Given the description of an element on the screen output the (x, y) to click on. 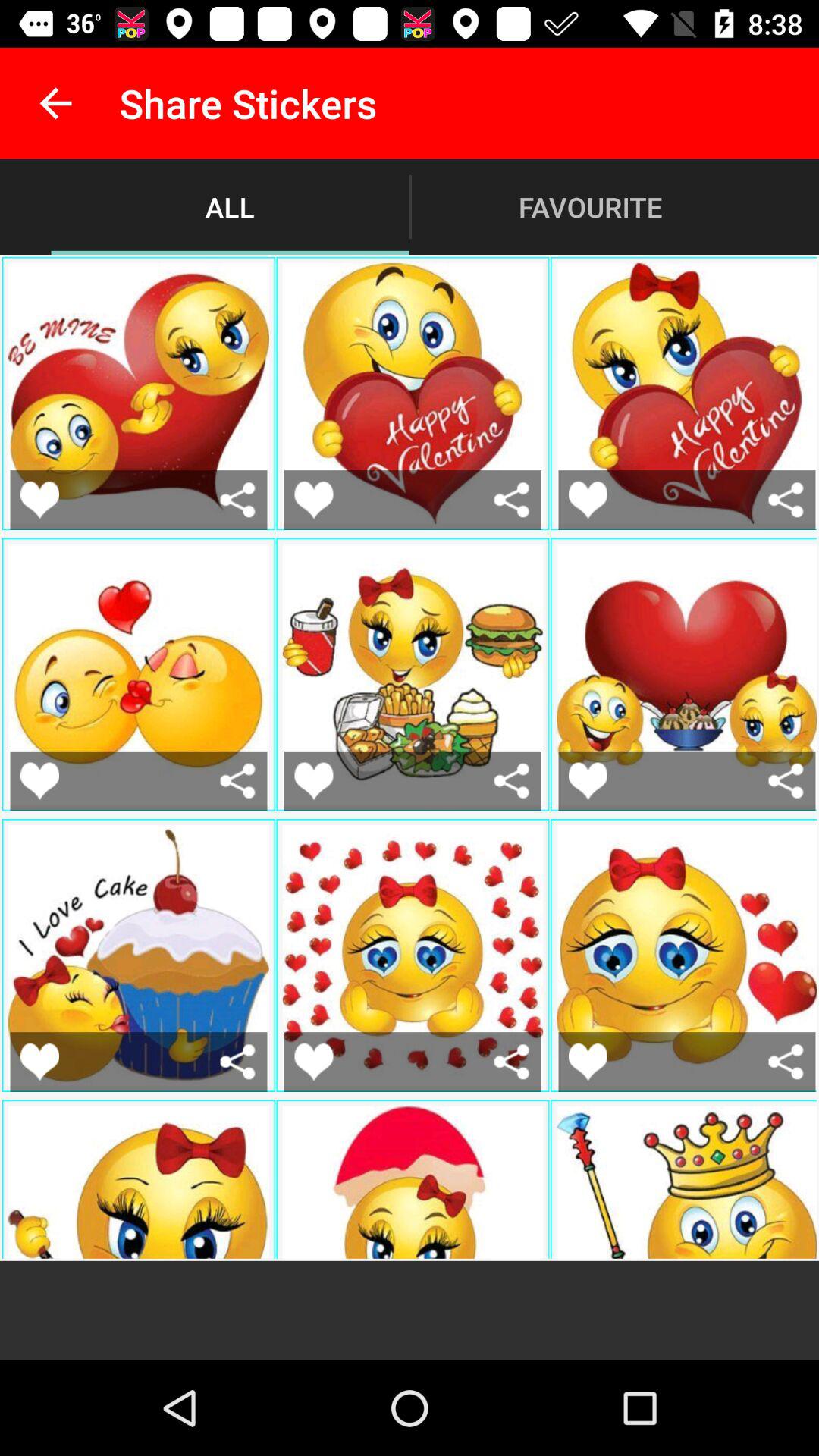
like this sticker (313, 780)
